Given the description of an element on the screen output the (x, y) to click on. 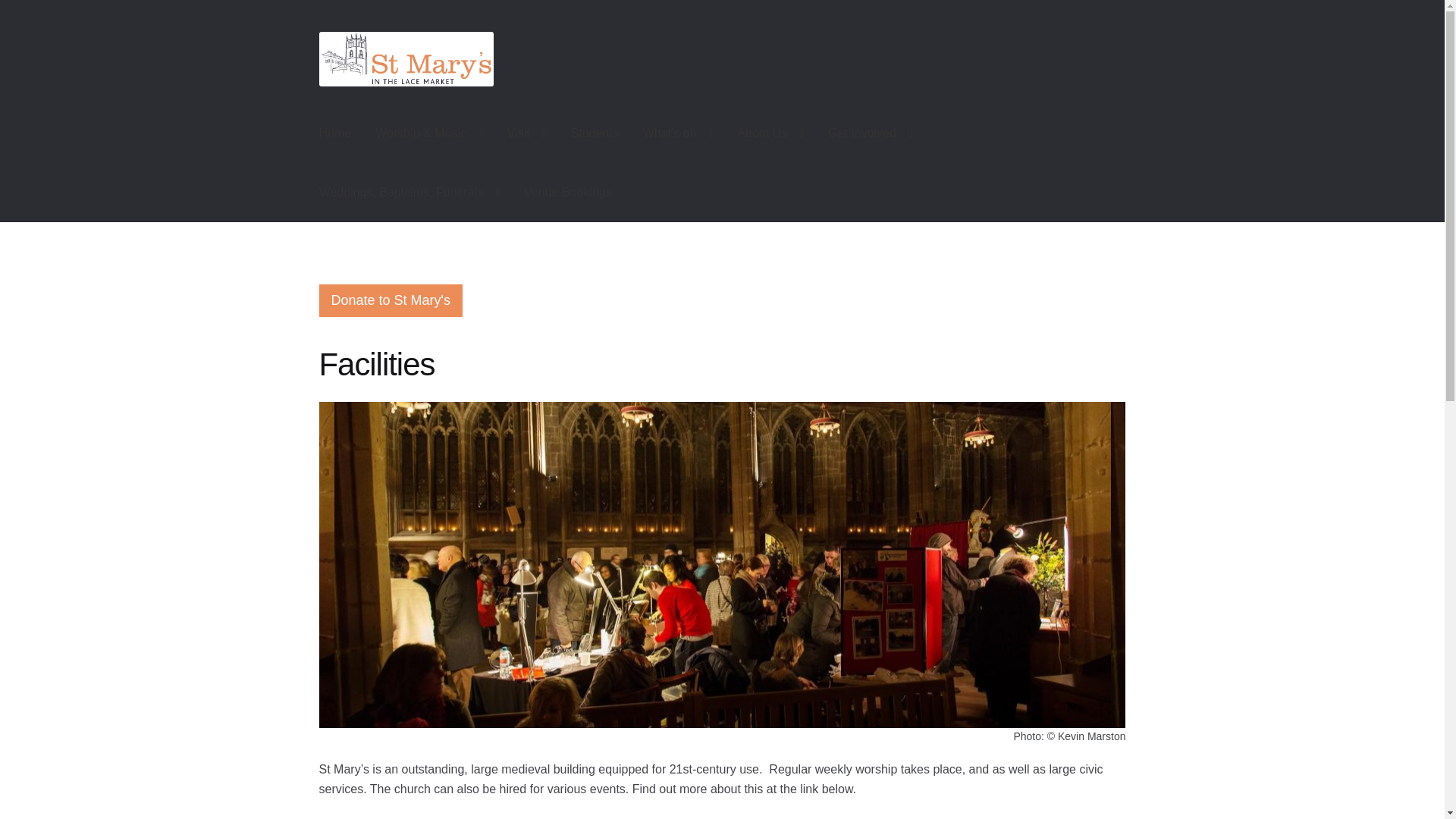
Home (335, 133)
Students (594, 133)
Visit (527, 133)
Get Involved (869, 133)
About Us (770, 133)
